Given the description of an element on the screen output the (x, y) to click on. 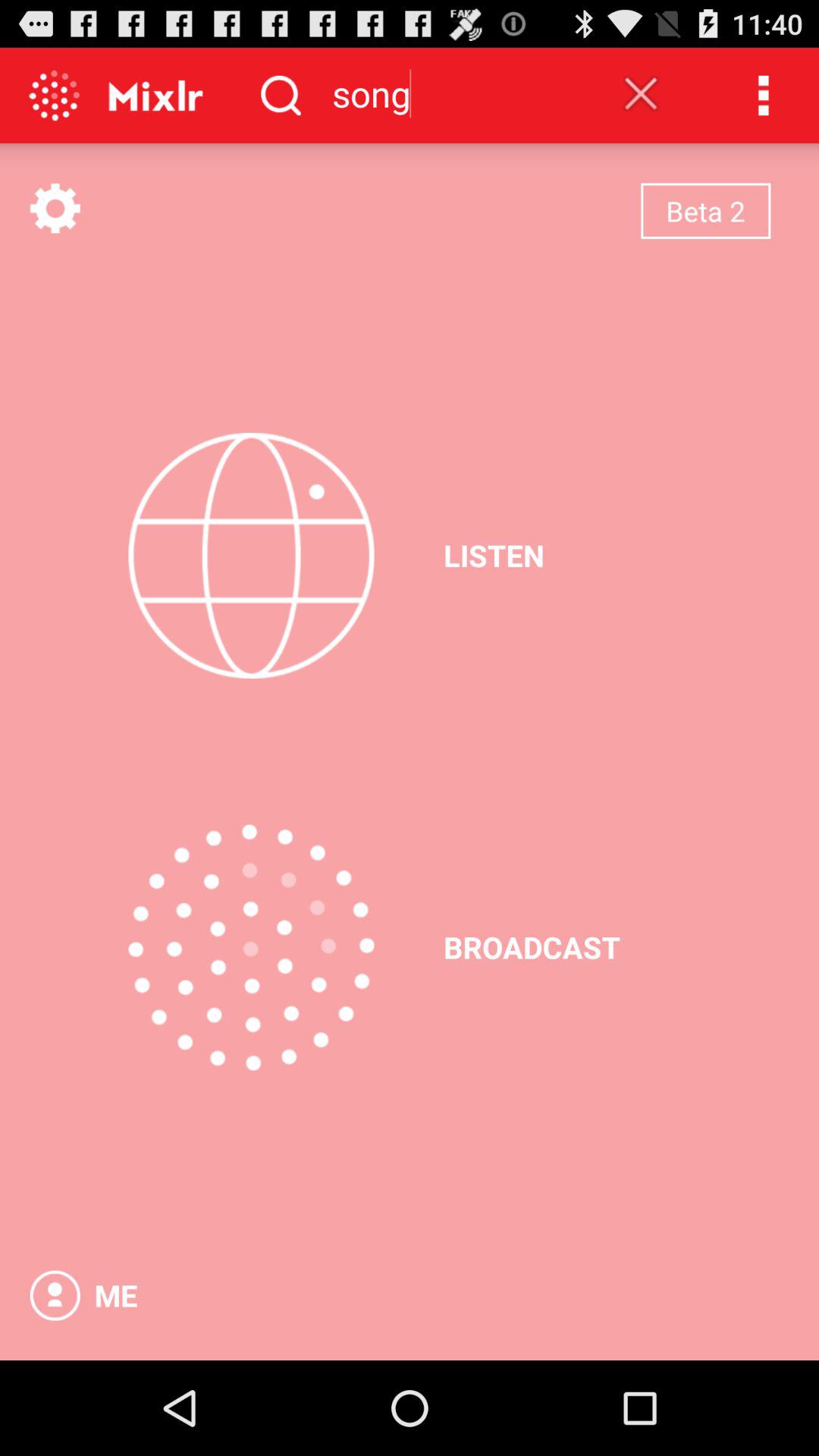
open the icon to the left of me (55, 1295)
